Given the description of an element on the screen output the (x, y) to click on. 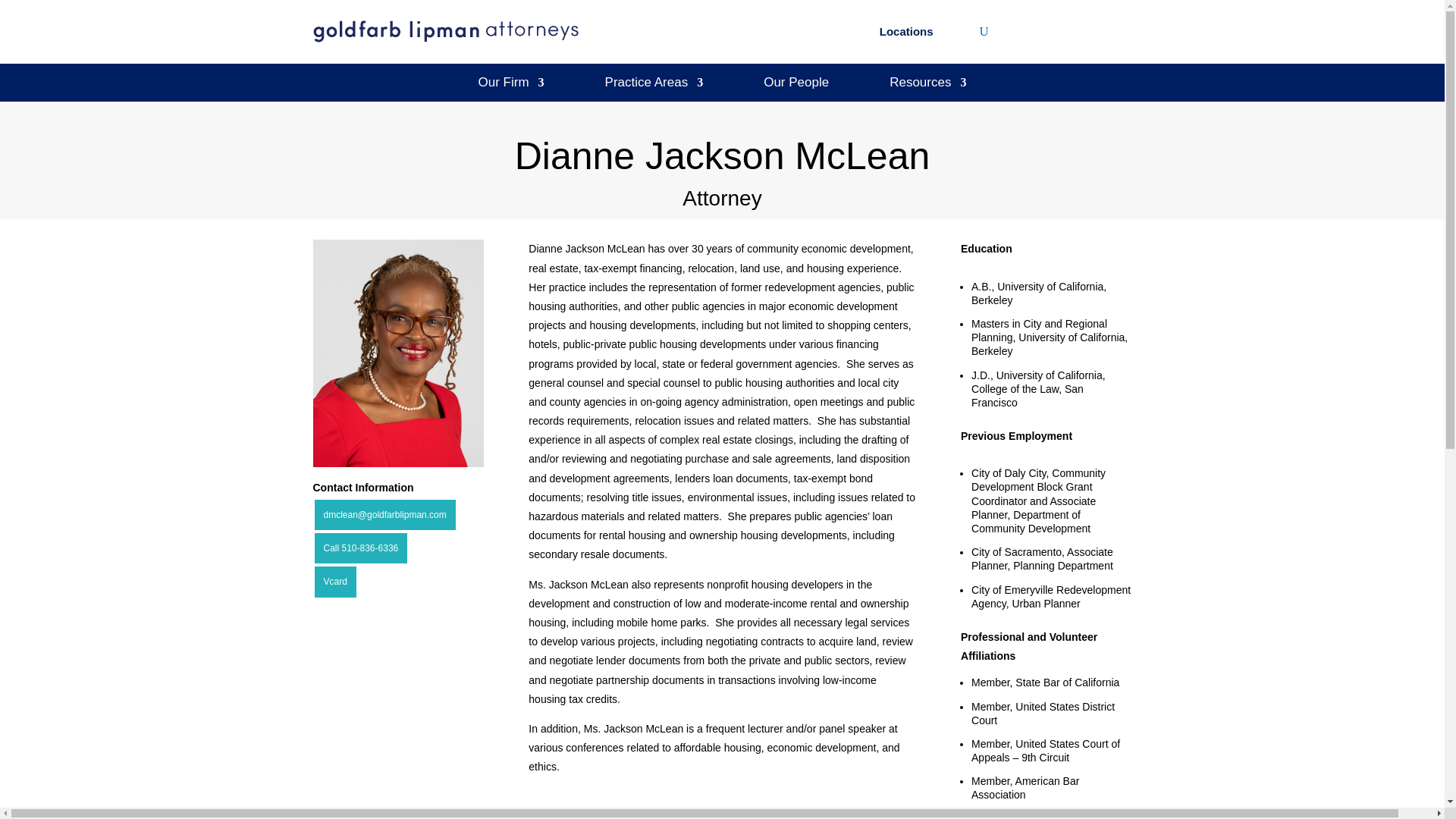
Our Firm (511, 85)
logogoldfarblipman4 (445, 31)
Locations (906, 34)
Practice Areas (654, 85)
